Given the description of an element on the screen output the (x, y) to click on. 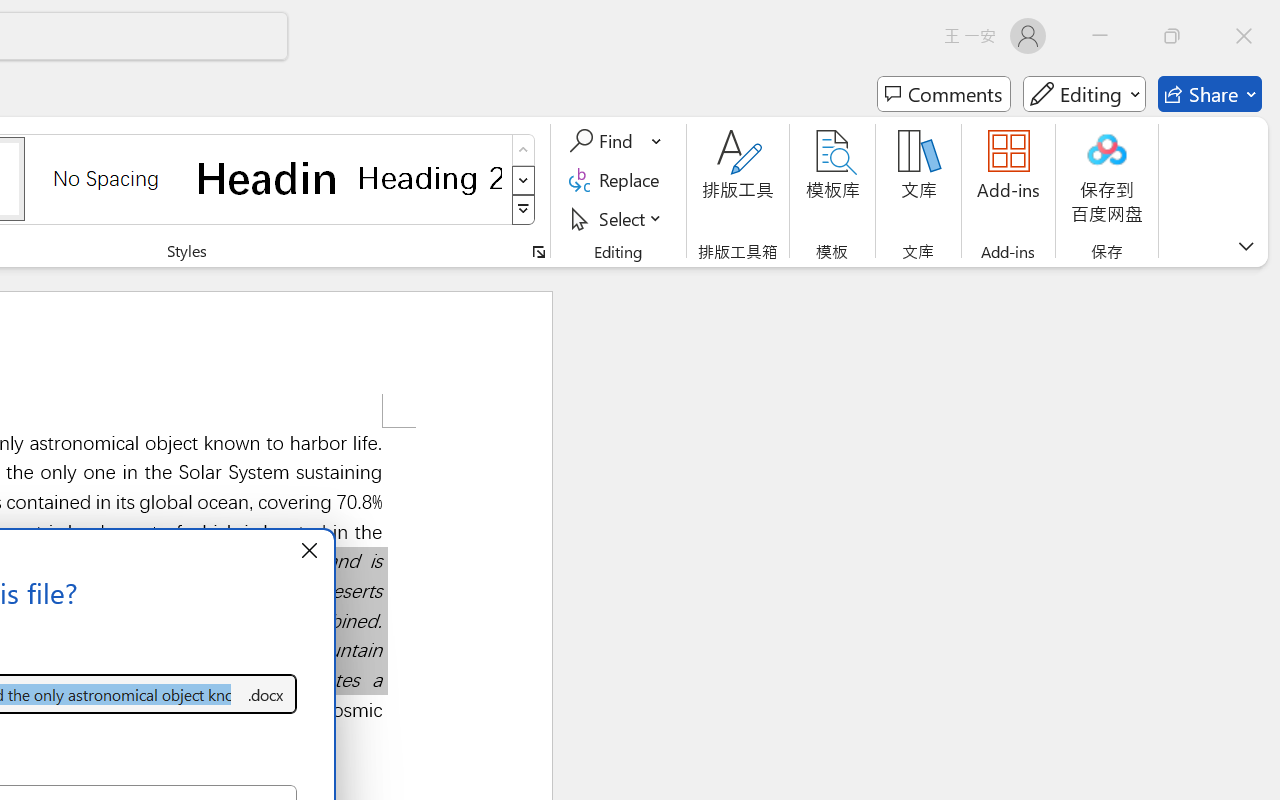
Row up (523, 150)
Select (618, 218)
Replace... (617, 179)
Styles (523, 209)
Save as type (265, 694)
Styles... (538, 252)
